Given the description of an element on the screen output the (x, y) to click on. 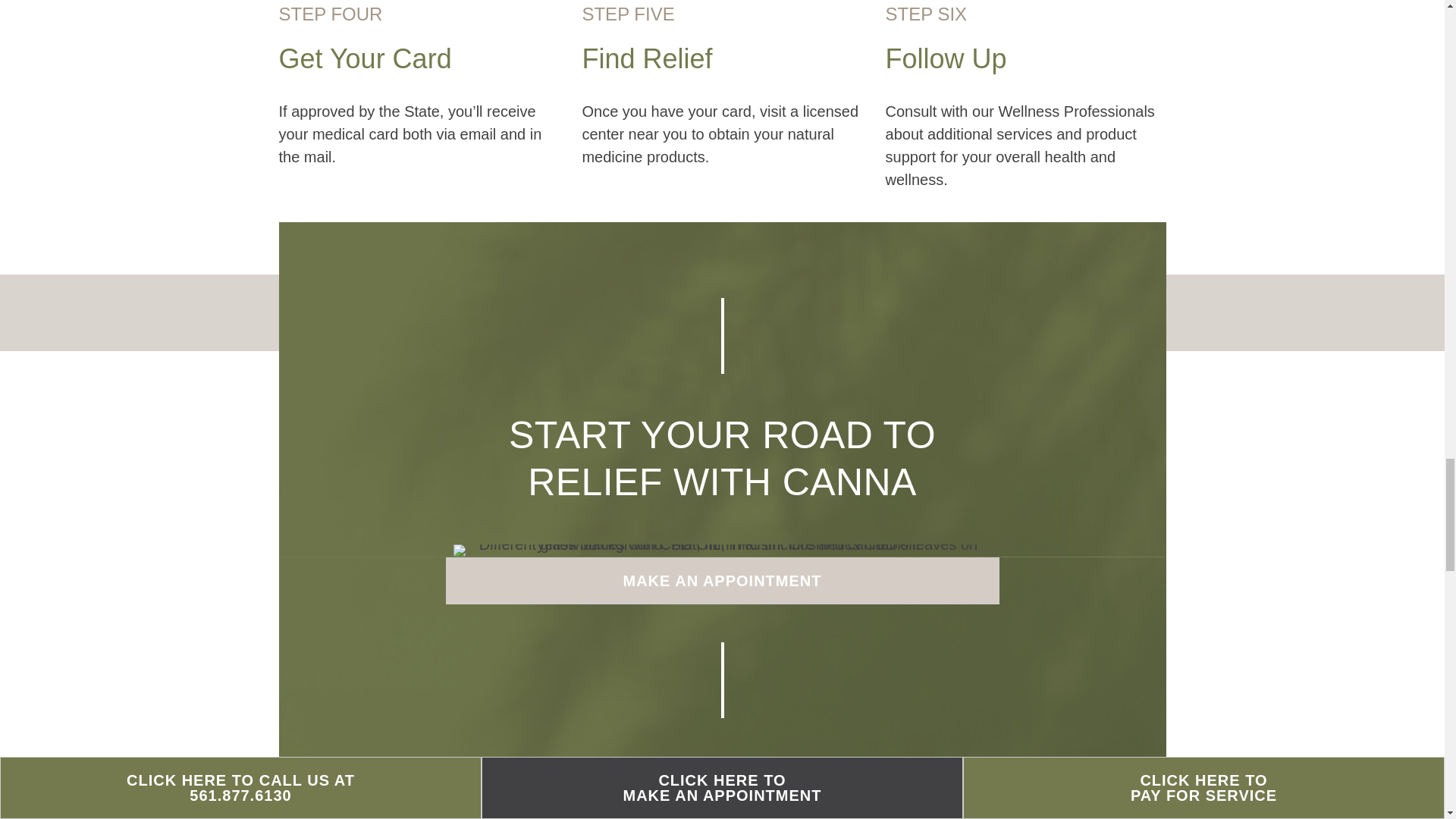
MAKE AN APPOINTMENT (721, 580)
